Given the description of an element on the screen output the (x, y) to click on. 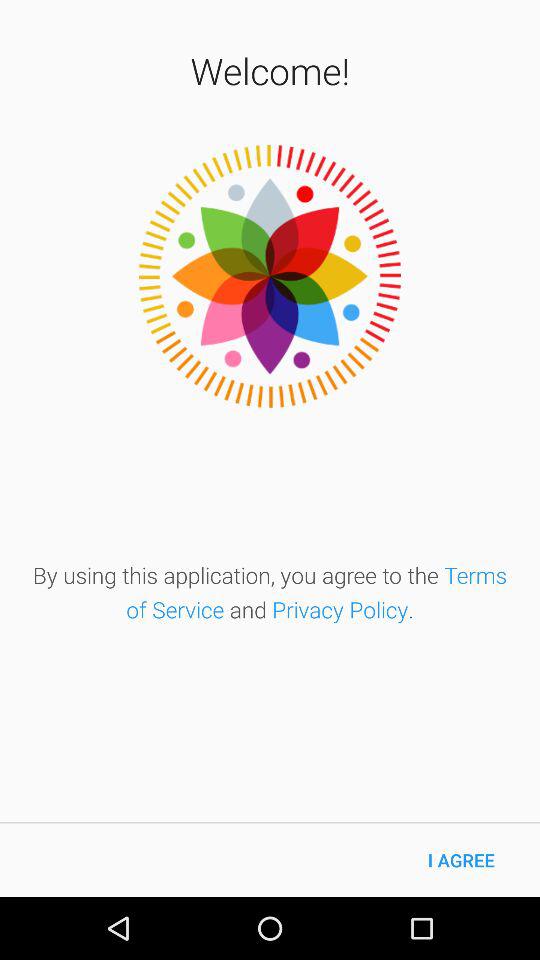
flip to the i agree (461, 859)
